Given the description of an element on the screen output the (x, y) to click on. 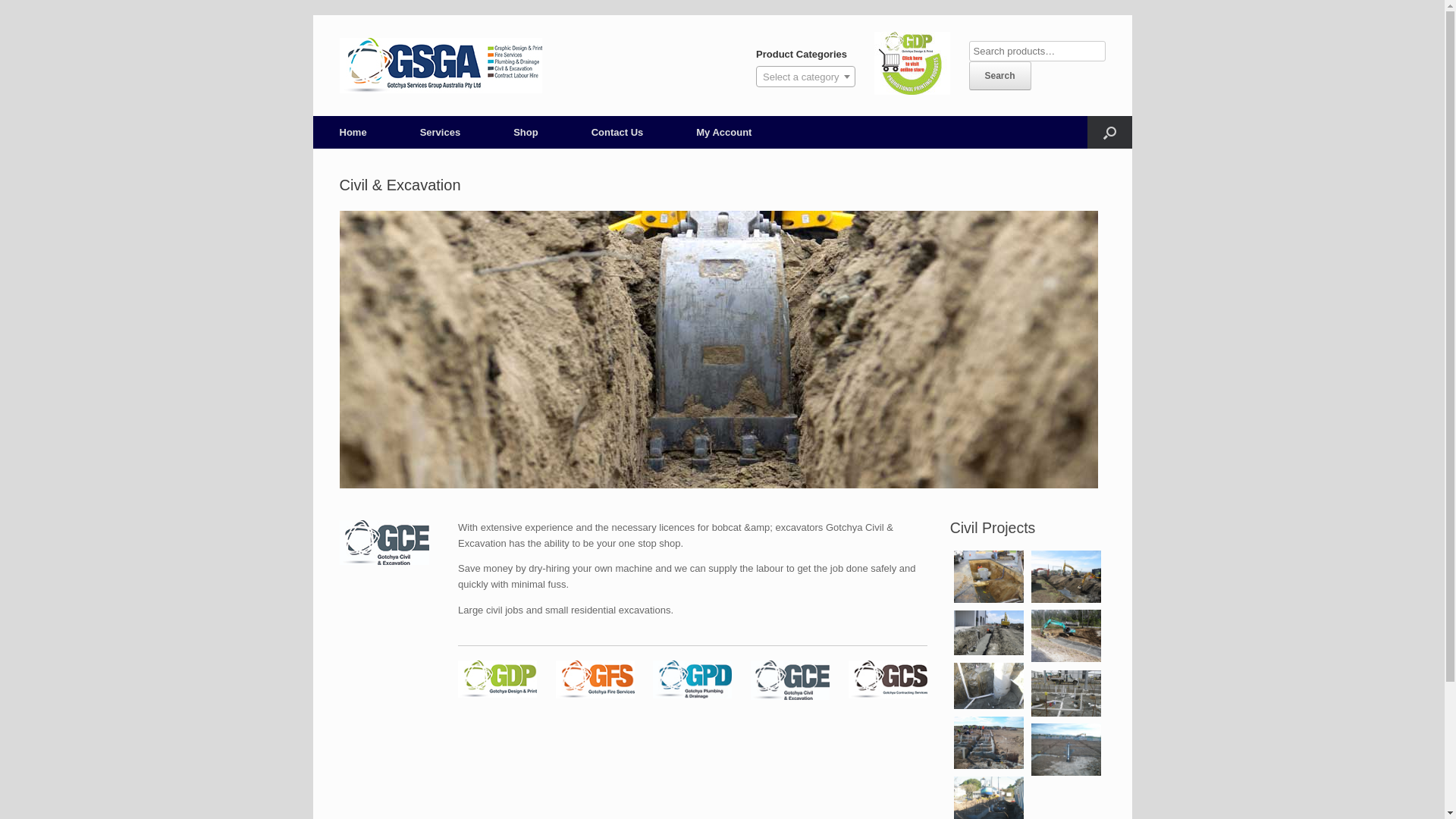
civil groundworks 2 Element type: hover (988, 685)
Gotchya Civil Plumbing Services Element type: hover (988, 632)
108_0025 Element type: hover (1066, 749)
DioxinRemediationExcavation Element type: hover (1066, 576)
My Account Element type: text (723, 132)
Contact Us Element type: text (617, 132)
108_0042 Element type: hover (988, 742)
SUTTON___ST__DRAINAGE_014_rdax_540x405 Element type: hover (988, 576)
Shop Element type: text (525, 132)
Home Element type: text (352, 132)
concrete_swale_drain Element type: hover (1066, 635)
GSGA Element type: hover (440, 65)
Services Element type: text (440, 132)
Civil Groundworks Element type: hover (1066, 692)
Search Element type: text (1000, 75)
